Given the description of an element on the screen output the (x, y) to click on. 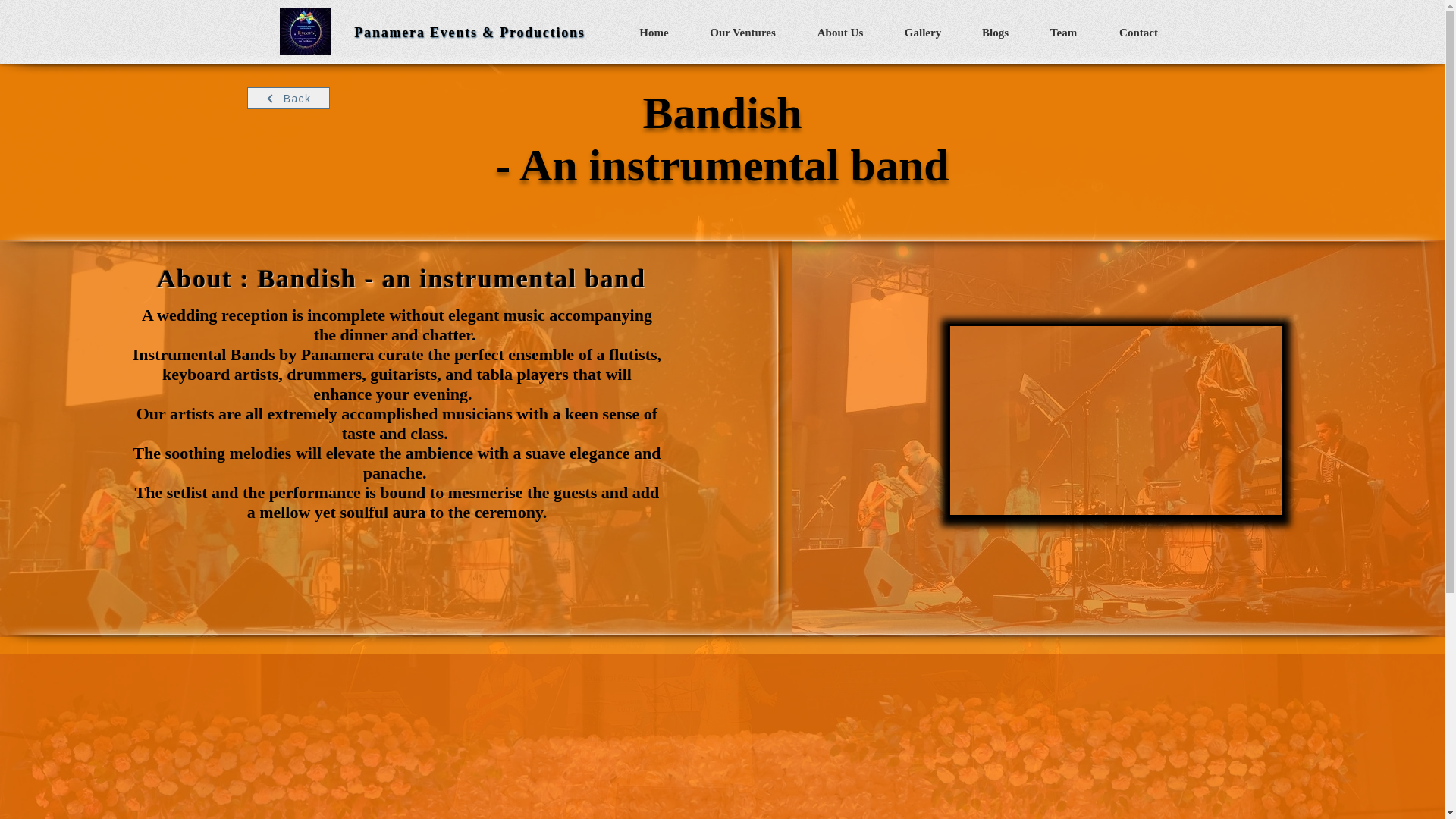
Home (654, 32)
Back (288, 97)
Gallery (921, 32)
Team (1063, 32)
About Us (840, 32)
Our Ventures (743, 32)
Contact (1138, 32)
Blogs (994, 32)
